Given the description of an element on the screen output the (x, y) to click on. 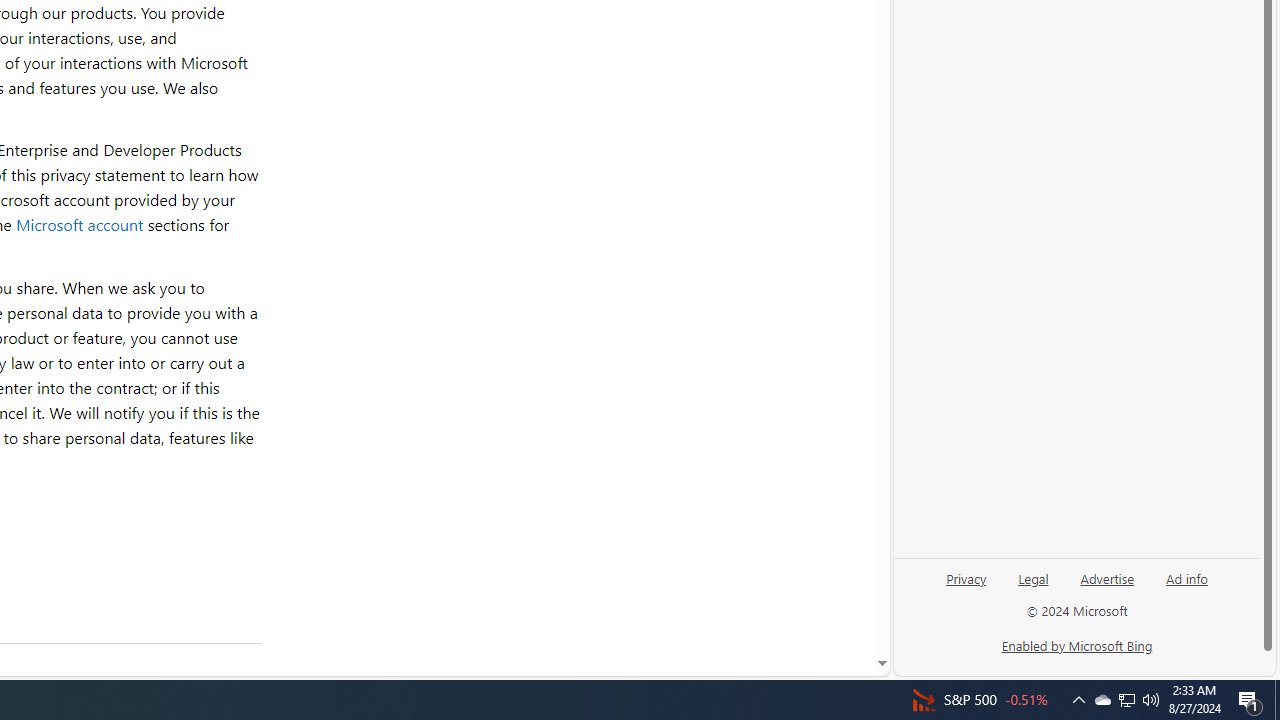
Microsoft account (79, 224)
